Given the description of an element on the screen output the (x, y) to click on. 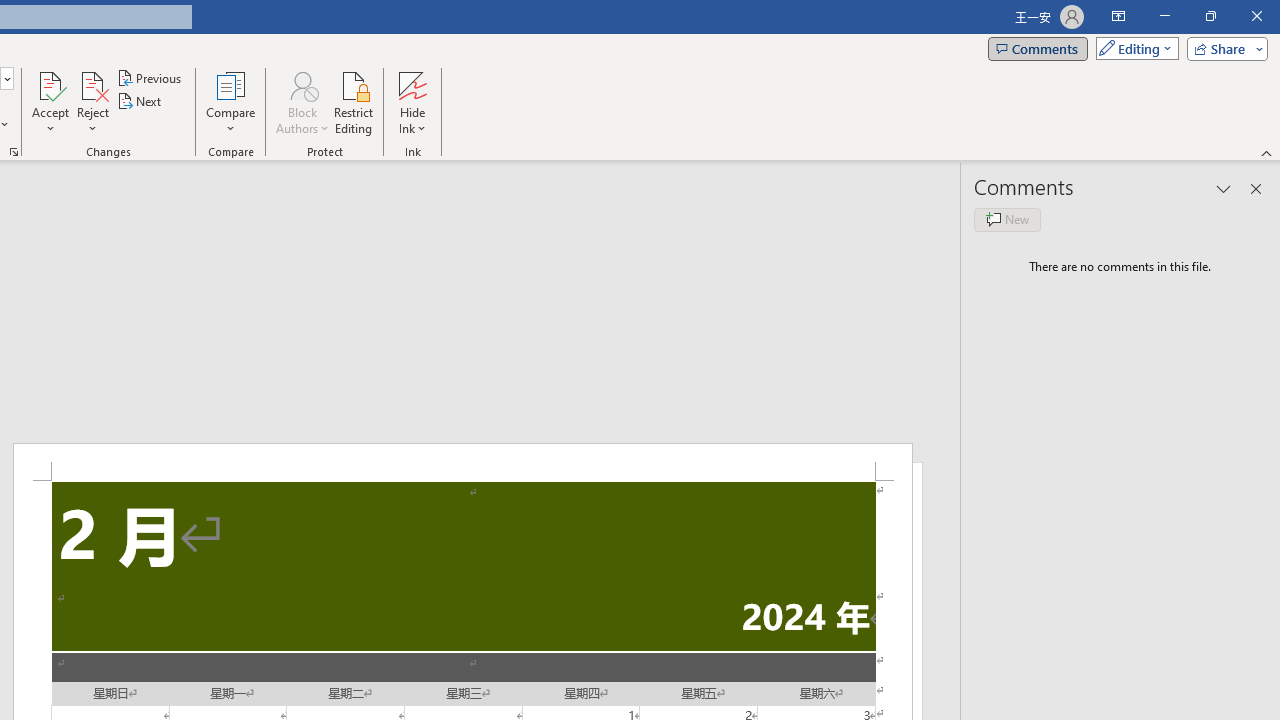
Next (140, 101)
Previous (150, 78)
Compare (230, 102)
Change Tracking Options... (13, 151)
Reject and Move to Next (92, 84)
Restrict Editing (353, 102)
Block Authors (302, 102)
